Given the description of an element on the screen output the (x, y) to click on. 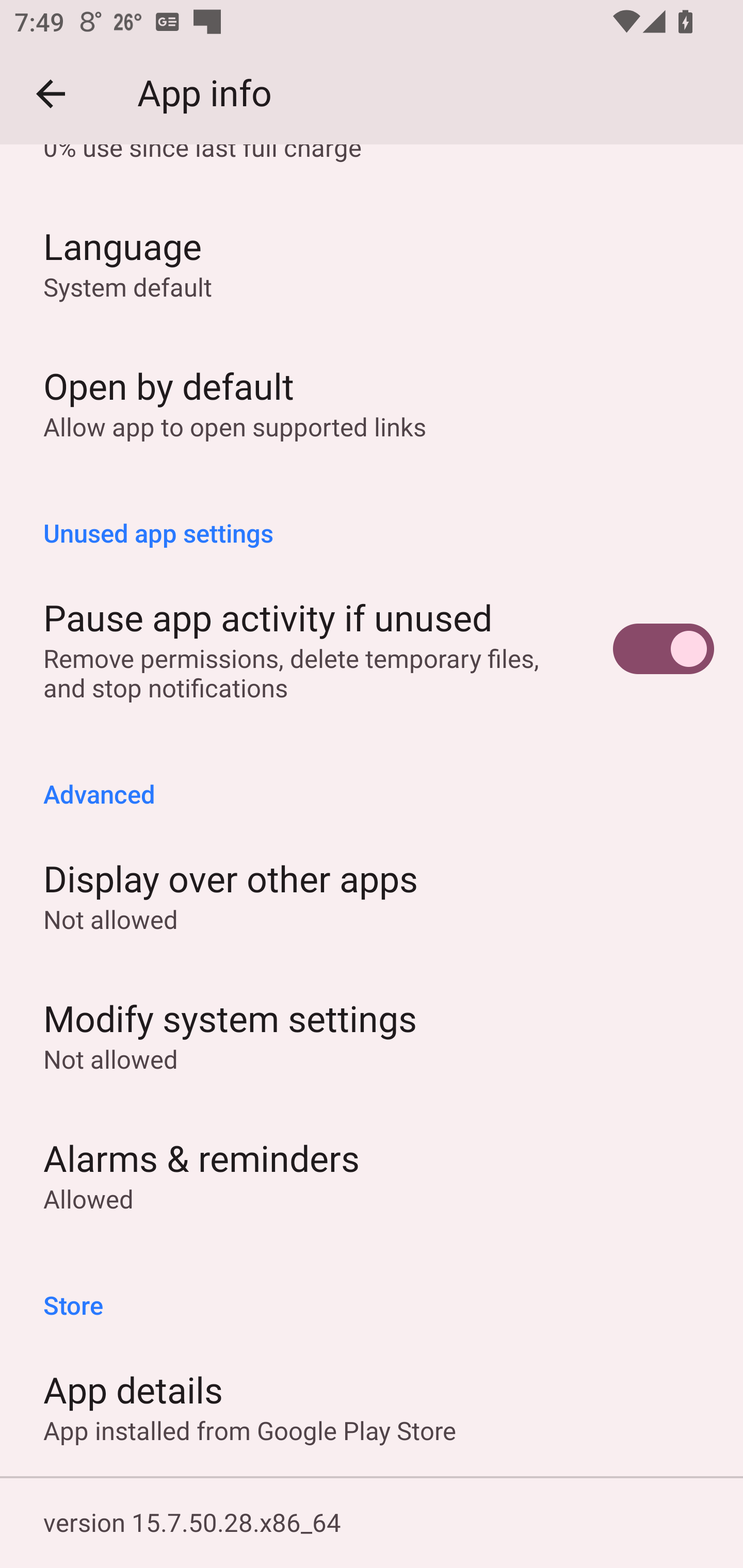
Navigate up (50, 93)
Language System default (371, 262)
Open by default Allow app to open supported links (371, 401)
Display over other apps Not allowed (371, 894)
Modify system settings Not allowed (371, 1034)
Alarms & reminders Allowed (371, 1174)
App details App installed from Google Play Store (371, 1405)
